Given the description of an element on the screen output the (x, y) to click on. 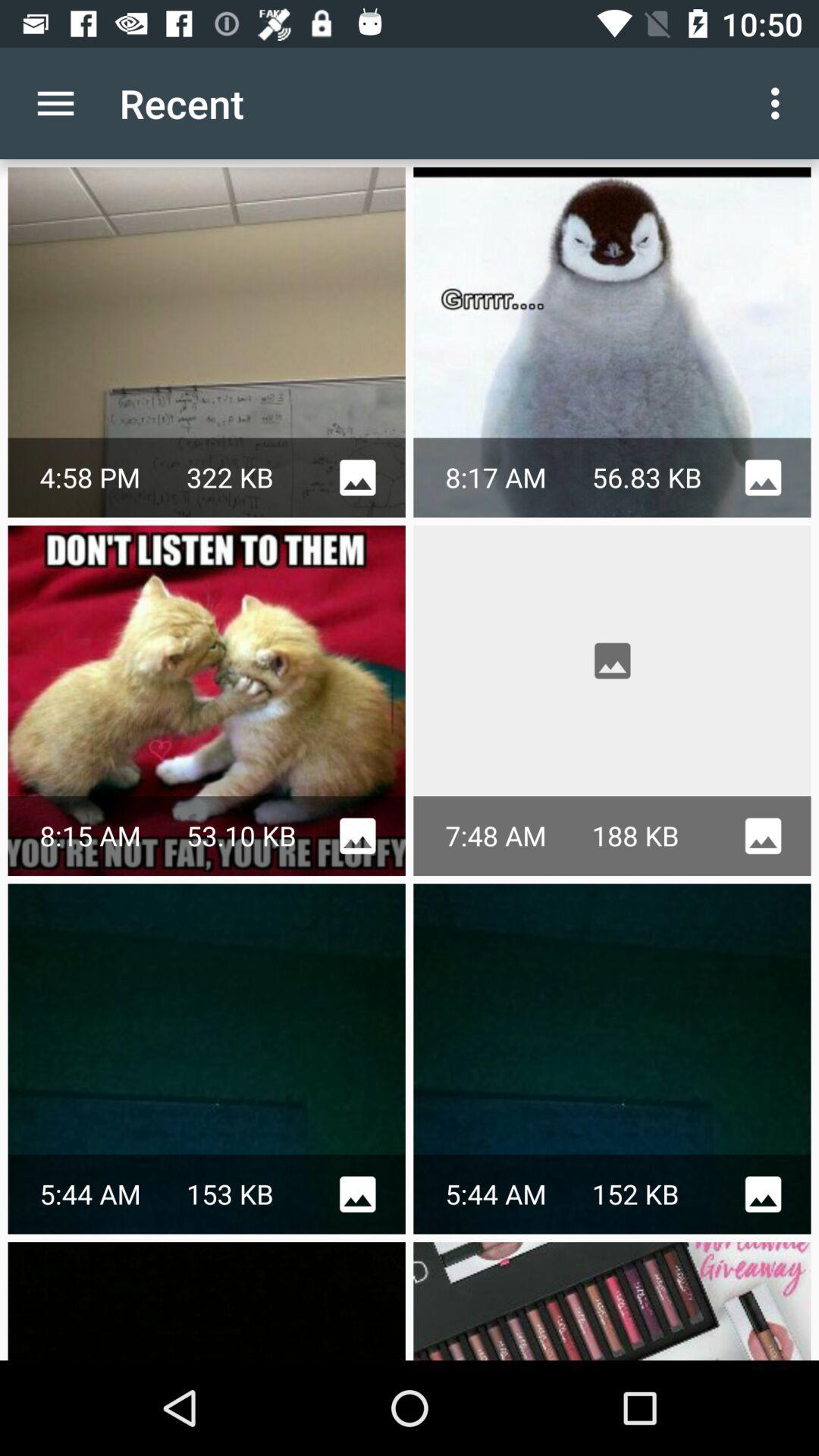
select item to the right of recent item (779, 103)
